Given the description of an element on the screen output the (x, y) to click on. 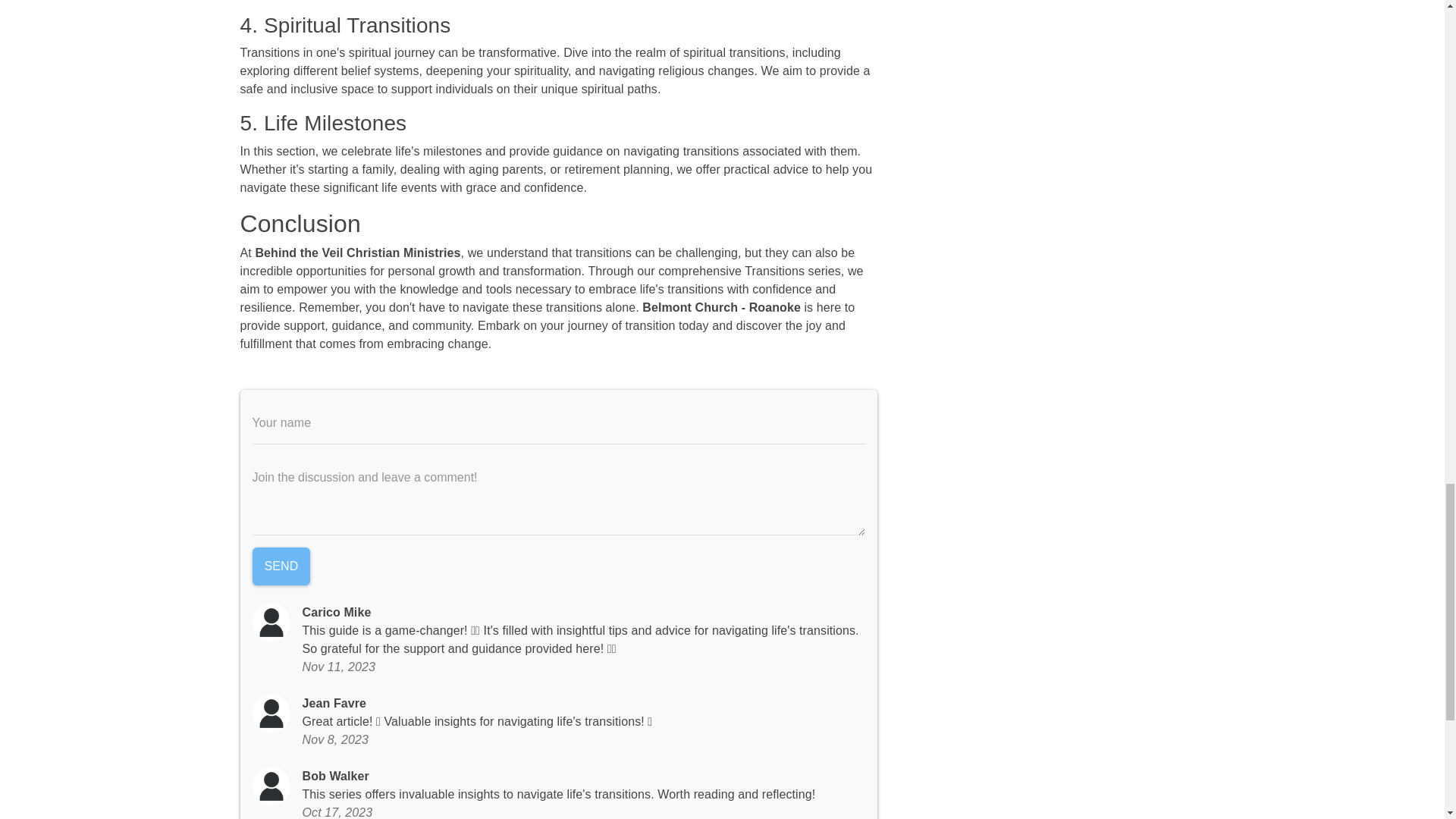
Send (280, 566)
Send (280, 566)
